Given the description of an element on the screen output the (x, y) to click on. 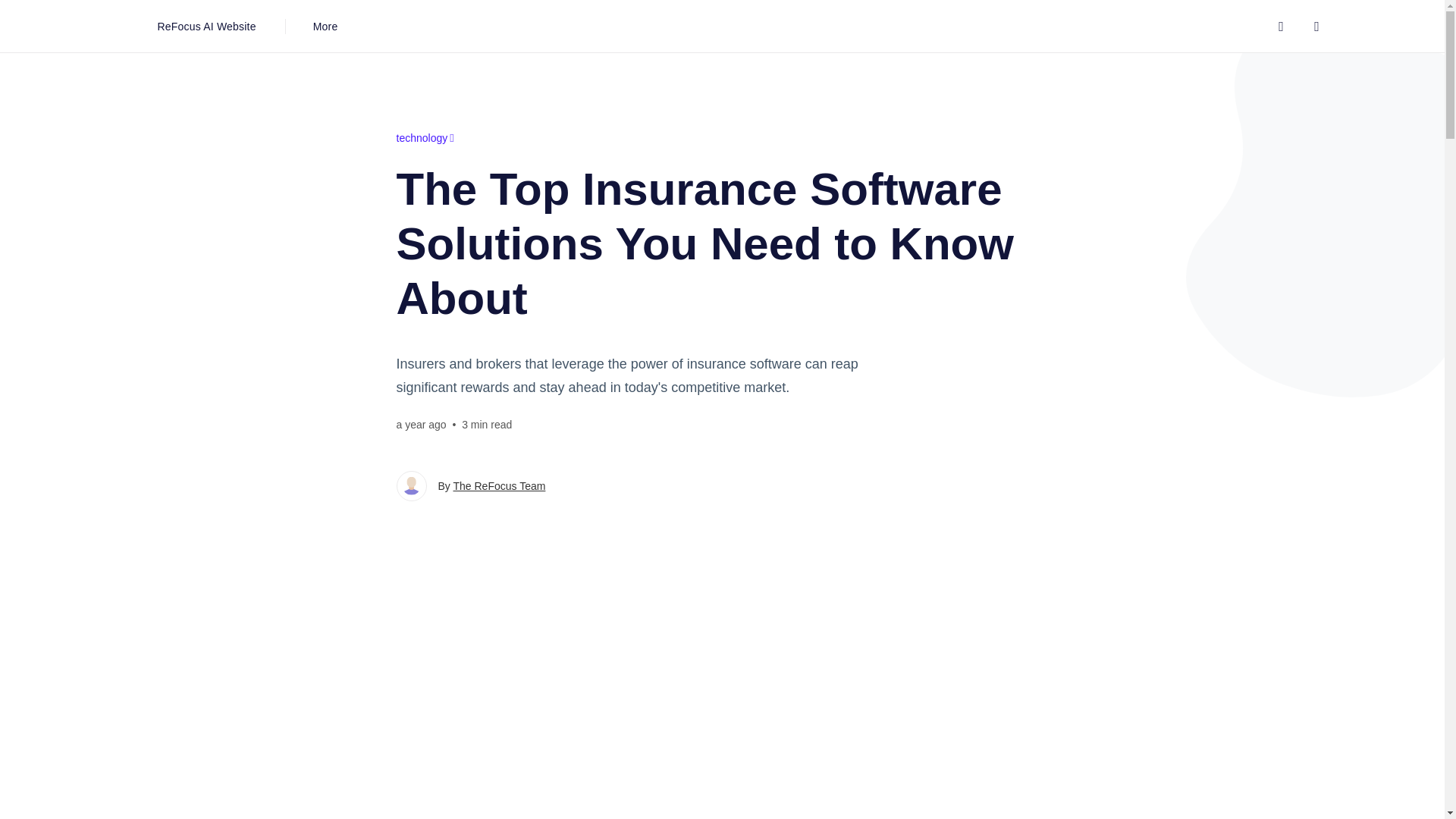
ReFocus AI Website (205, 26)
The ReFocus Team (498, 485)
More (325, 26)
technology (424, 138)
